Given the description of an element on the screen output the (x, y) to click on. 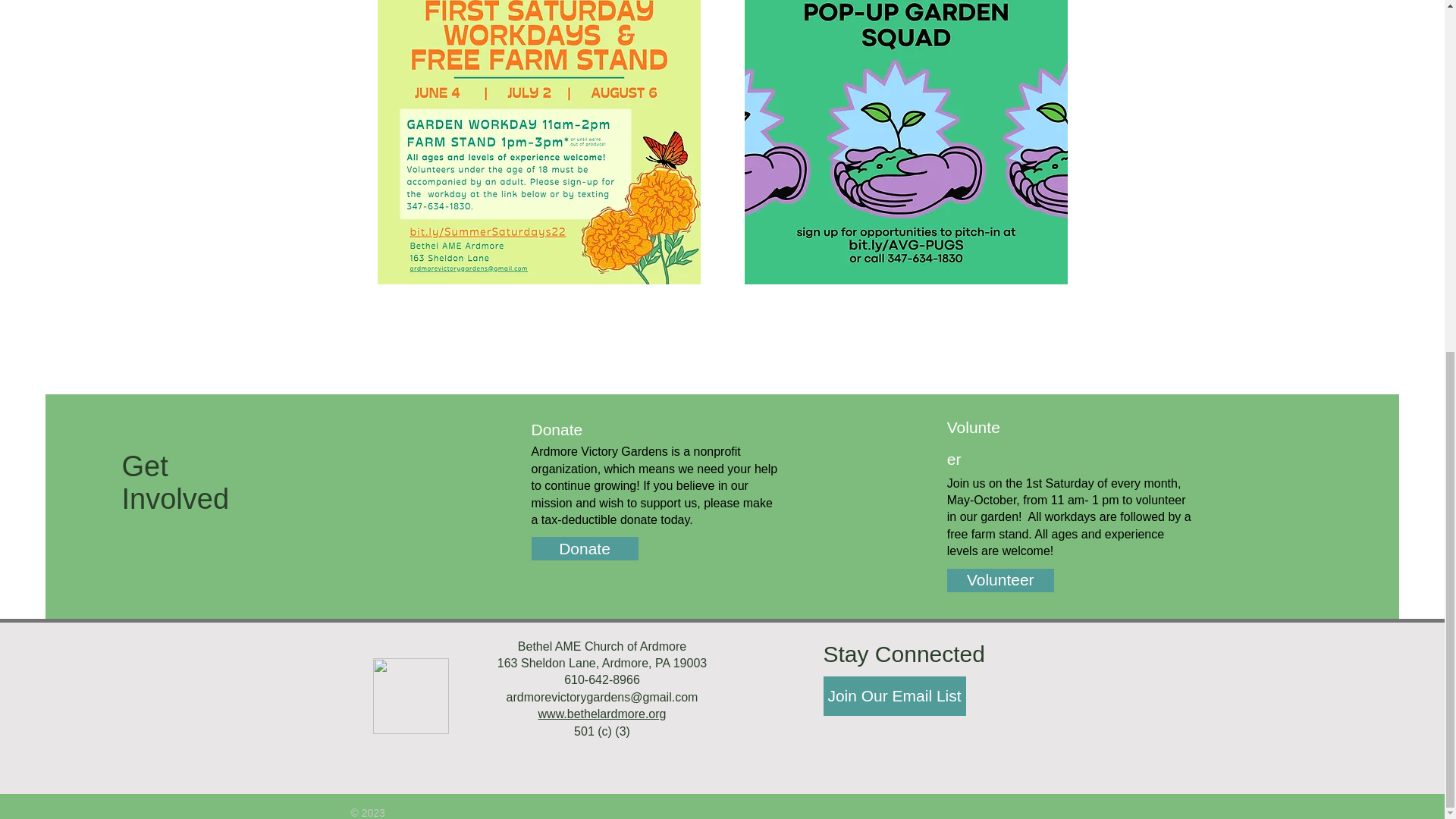
Victory Gardens Logo.png (410, 695)
610-642-8966 (602, 679)
www.bethelardmore.org (602, 713)
Volunteer (1000, 580)
Donate (584, 548)
Join Our Email List (895, 695)
